Given the description of an element on the screen output the (x, y) to click on. 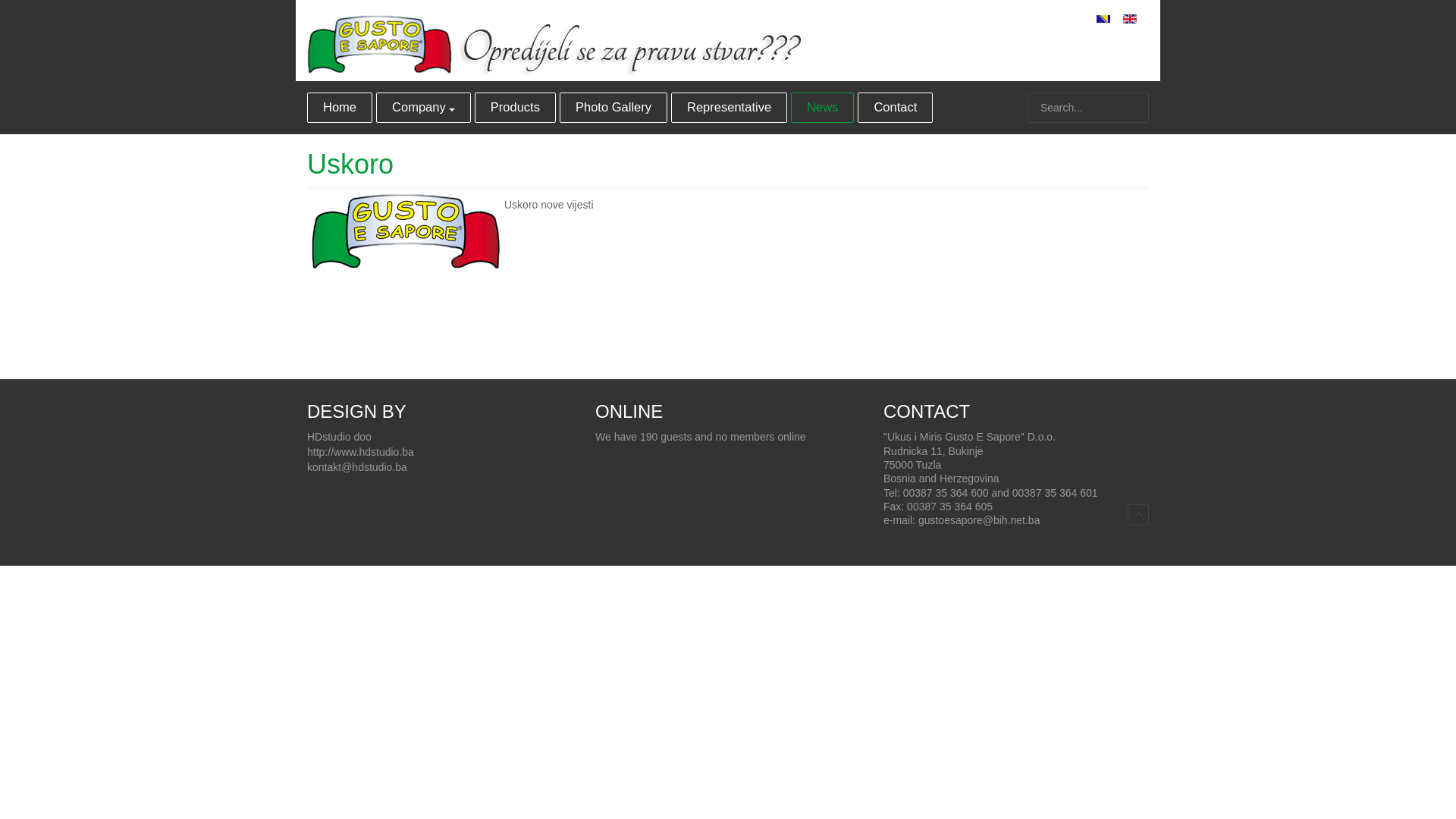
News Element type: text (821, 107)
Contact Element type: text (894, 107)
Representative Element type: text (729, 107)
  Element type: text (1137, 514)
Uskoro Element type: text (350, 163)
Photo Gallery Element type: text (613, 107)
Company  Element type: text (423, 107)
Products Element type: text (514, 107)
Home Element type: text (339, 107)
Bosanski Element type: hover (1103, 18)
Back to Top Element type: hover (1137, 514)
English (UK) Element type: hover (1129, 18)
